Given the description of an element on the screen output the (x, y) to click on. 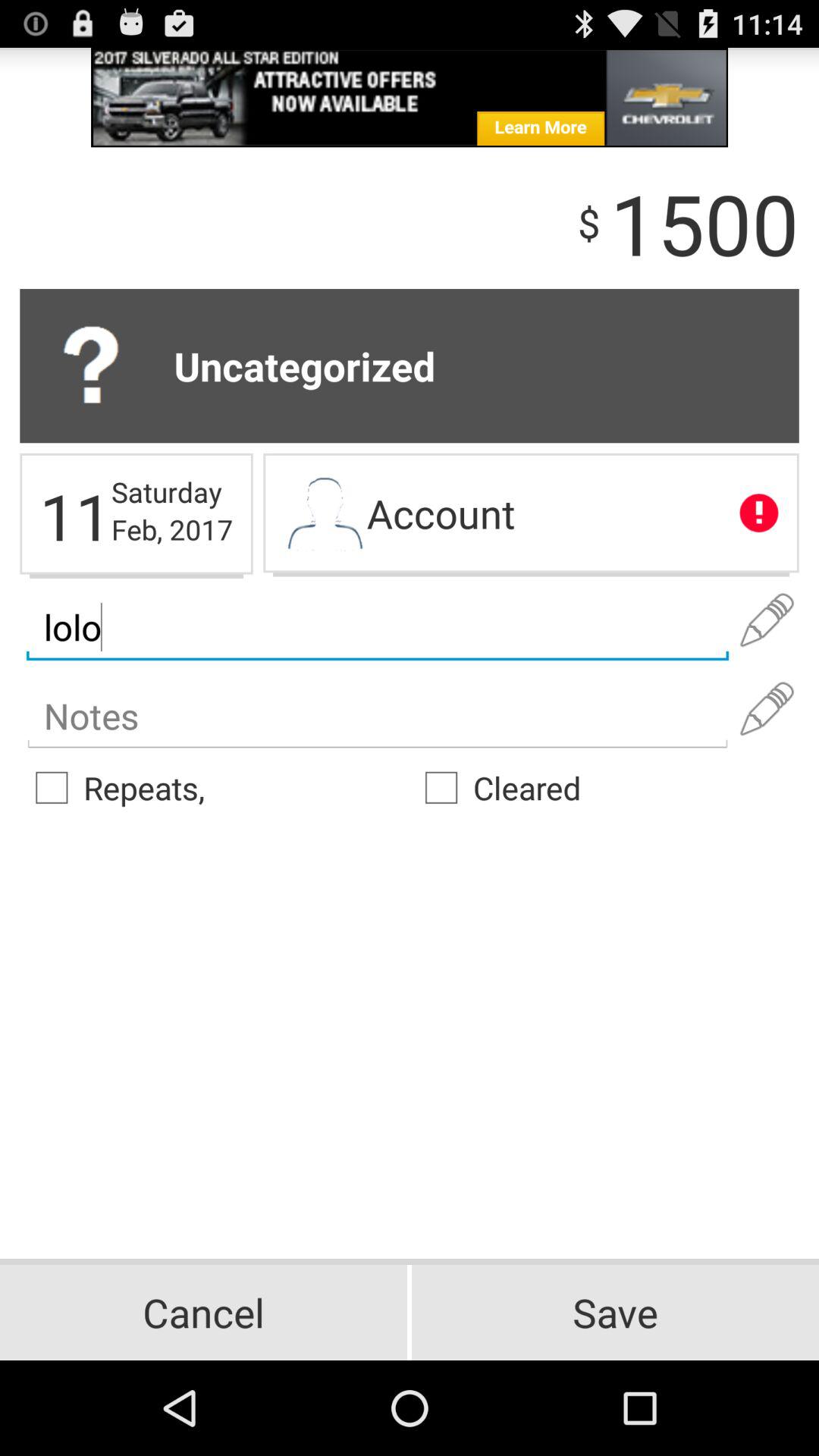
edit name (767, 620)
